Given the description of an element on the screen output the (x, y) to click on. 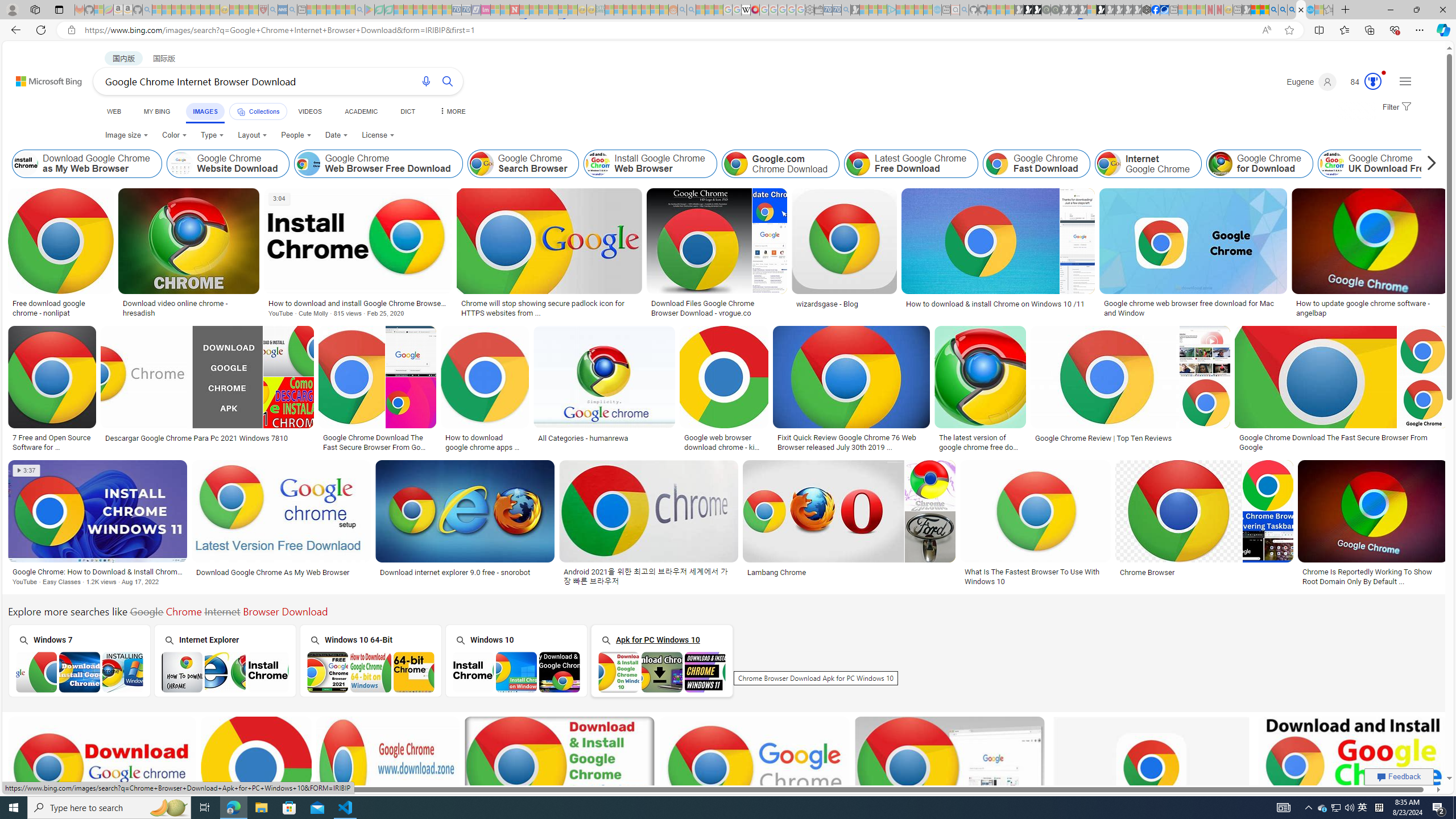
Animation (1383, 72)
Sign in to your account - Sleeping (1090, 9)
Chrome Browser Download Windows 7 Windows 7 (78, 660)
Download Google Chrome As My Web Browser (272, 571)
Back to Bing search (41, 78)
Robert H. Shmerling, MD - Harvard Health - Sleeping (263, 9)
Home | Sky Blue Bikes - Sky Blue Bikes - Sleeping (936, 9)
Descargar Google Chrome Para Pc 2021 Windows 7810 (206, 437)
Microsoft account | Privacy - Sleeping (882, 9)
Microsoft Start - Sleeping (919, 9)
License (378, 135)
Chrome Browser Download Windows 10 (515, 671)
